Given the description of an element on the screen output the (x, y) to click on. 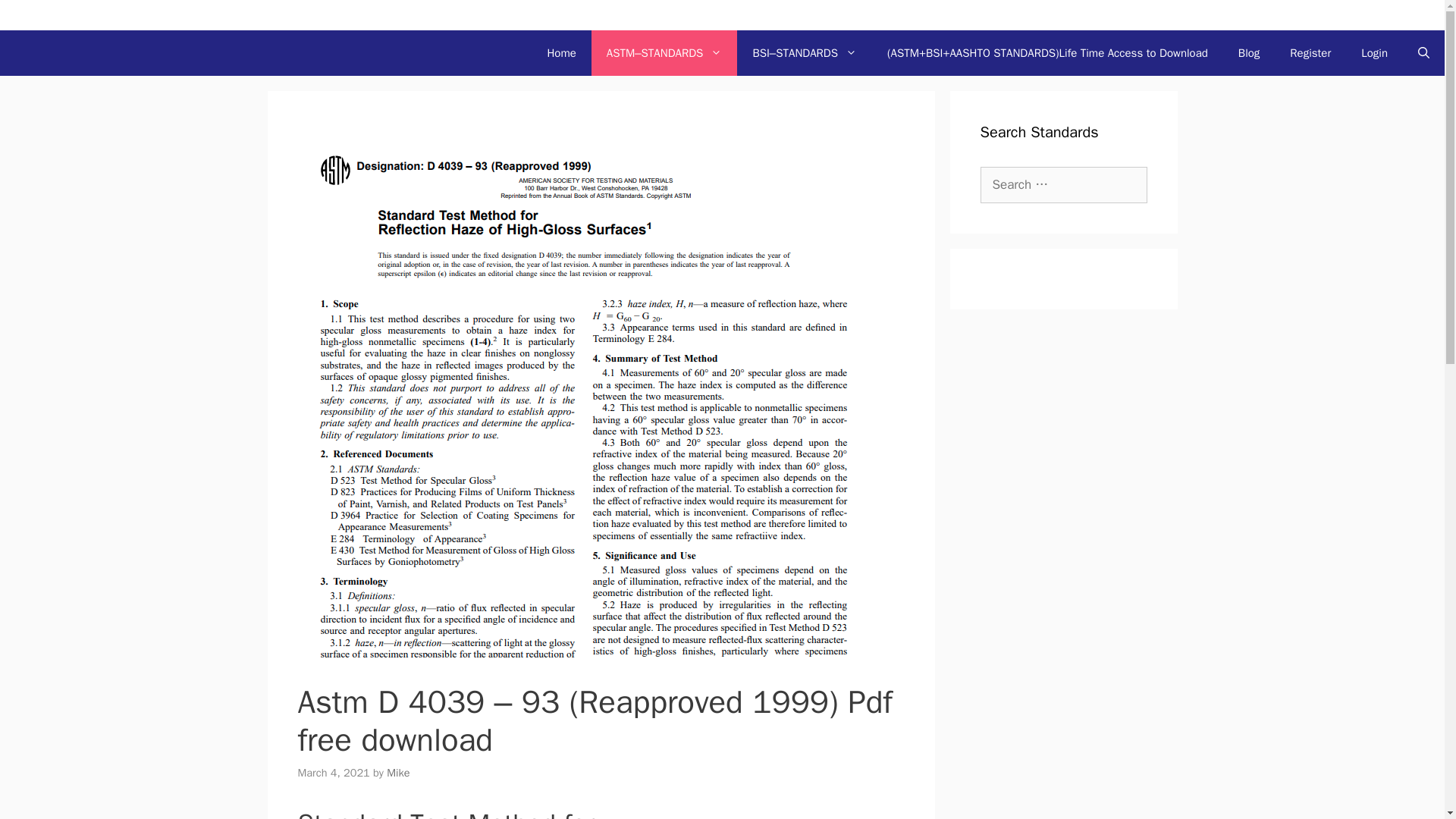
View all posts by Mike (398, 772)
Search for: (1063, 185)
Mike (398, 772)
Home (561, 53)
Register (1310, 53)
Search (33, 17)
Login (1374, 53)
Blog (1249, 53)
